Given the description of an element on the screen output the (x, y) to click on. 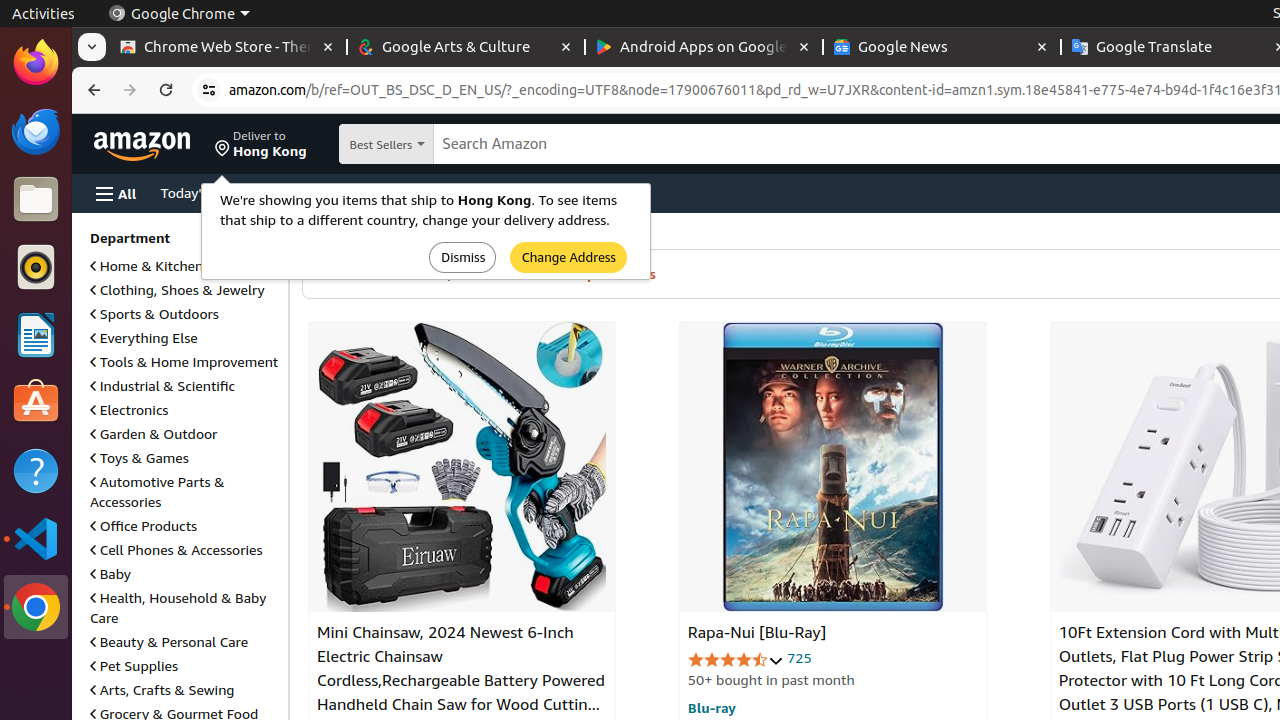
Electronics Element type: link (129, 409)
Deliver to Hong Kong Element type: link (261, 144)
Mini Chainsaw, 2024 Newest 6-Inch Electric Chainsaw Cordless,Rechargeable Battery Powered Handheld Chain Saw for Wood Cutt... Element type: link (462, 467)
